Given the description of an element on the screen output the (x, y) to click on. 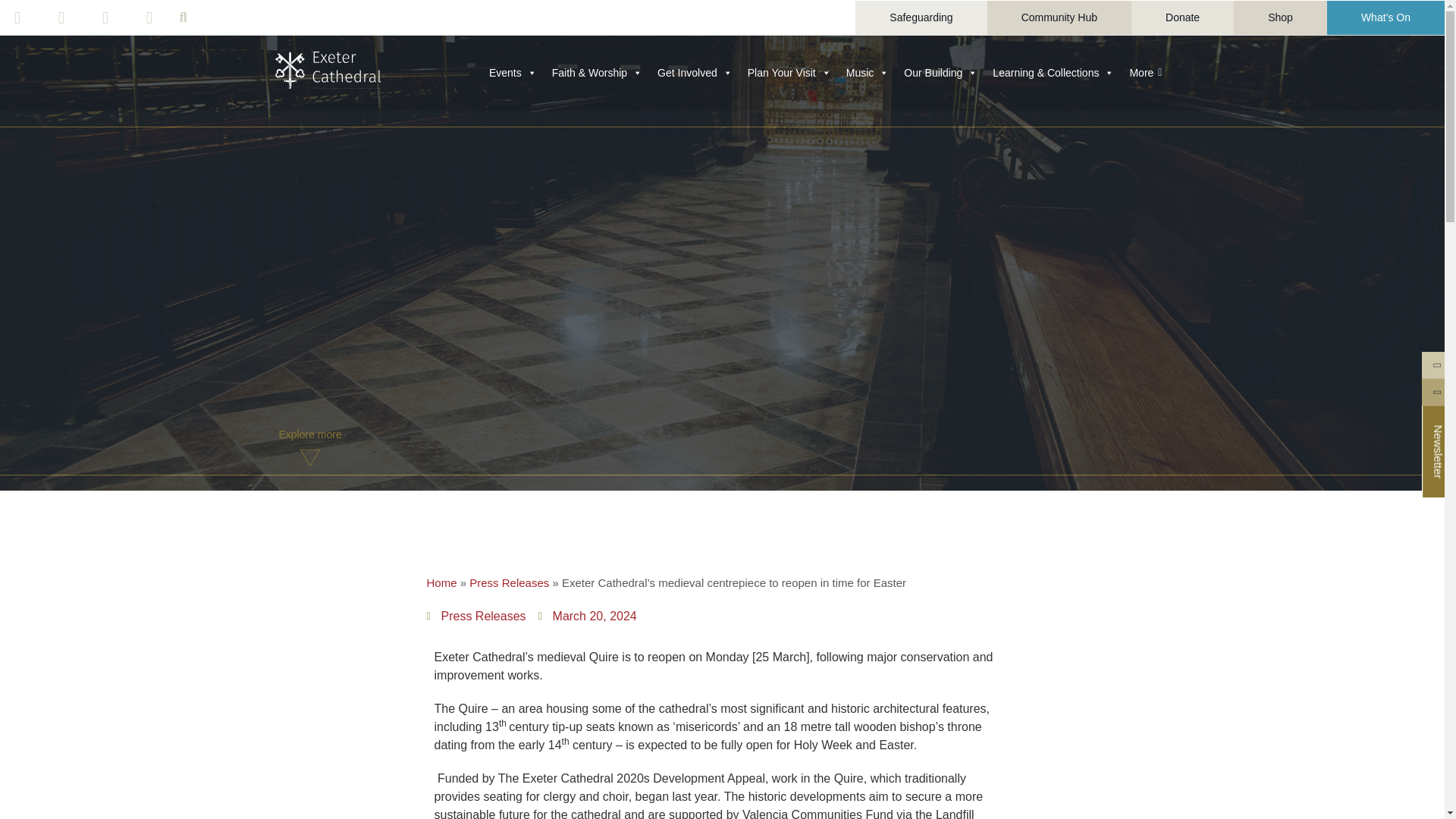
Safeguarding (921, 17)
Shop (1279, 17)
Donate (1182, 17)
Events (512, 72)
Get Involved (694, 72)
Community Hub (1059, 17)
